Given the description of an element on the screen output the (x, y) to click on. 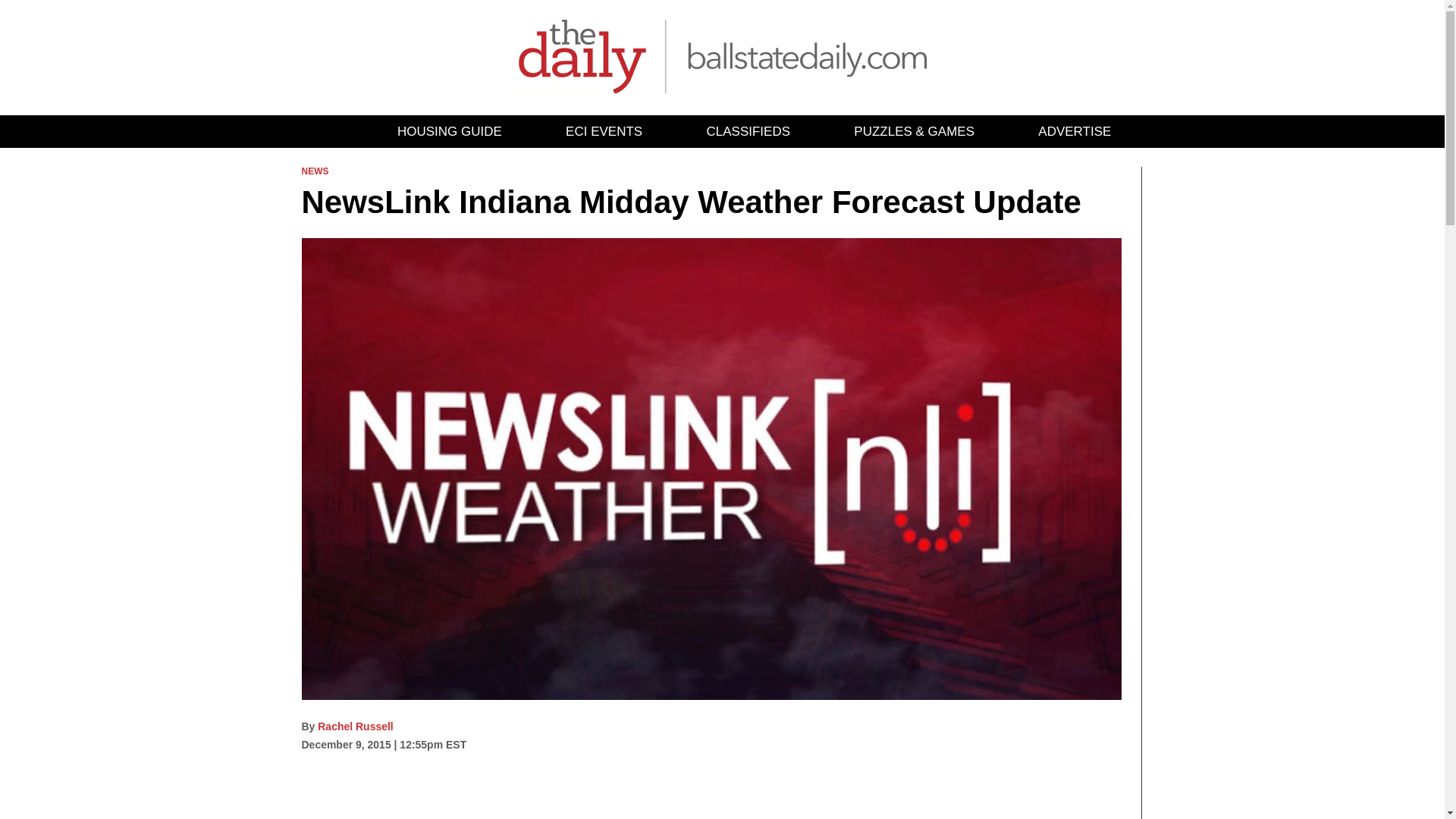
Rachel Russell (355, 726)
Housing Guide (449, 131)
HOUSING GUIDE (449, 131)
ECI EVENTS (604, 131)
Classifieds (748, 131)
CLASSIFIEDS (748, 131)
NEWS (315, 171)
Advertise (1075, 131)
ADVERTISE (1075, 131)
ECI Events (604, 131)
